Given the description of an element on the screen output the (x, y) to click on. 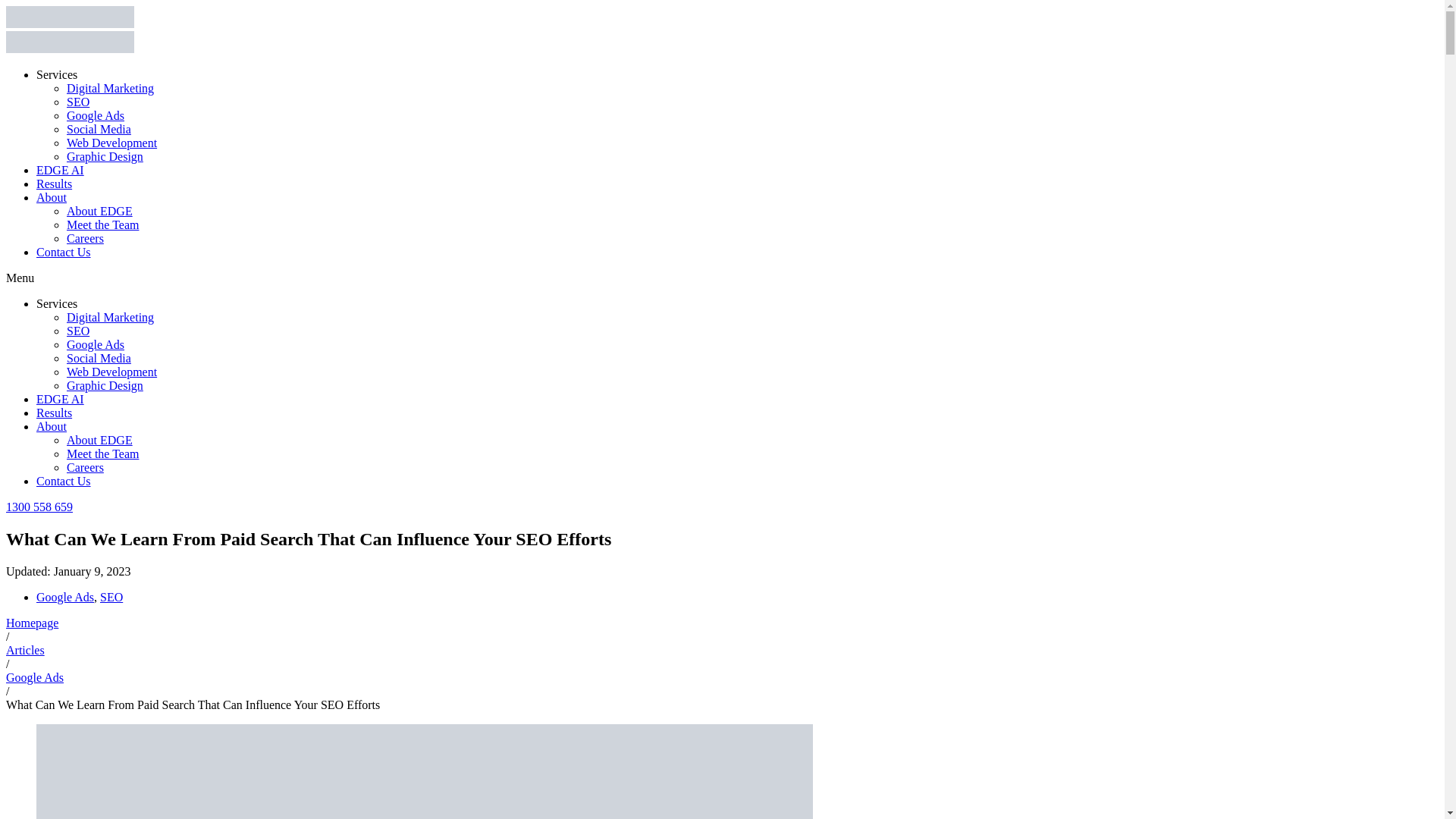
Digital Marketing (110, 317)
About EDGE (99, 440)
About (51, 196)
EDGE AI (60, 169)
1300 558 659 (38, 506)
Graphic Design (104, 385)
Careers (84, 467)
Google Ads (65, 596)
Web Development (111, 371)
Homepage (31, 622)
